Given the description of an element on the screen output the (x, y) to click on. 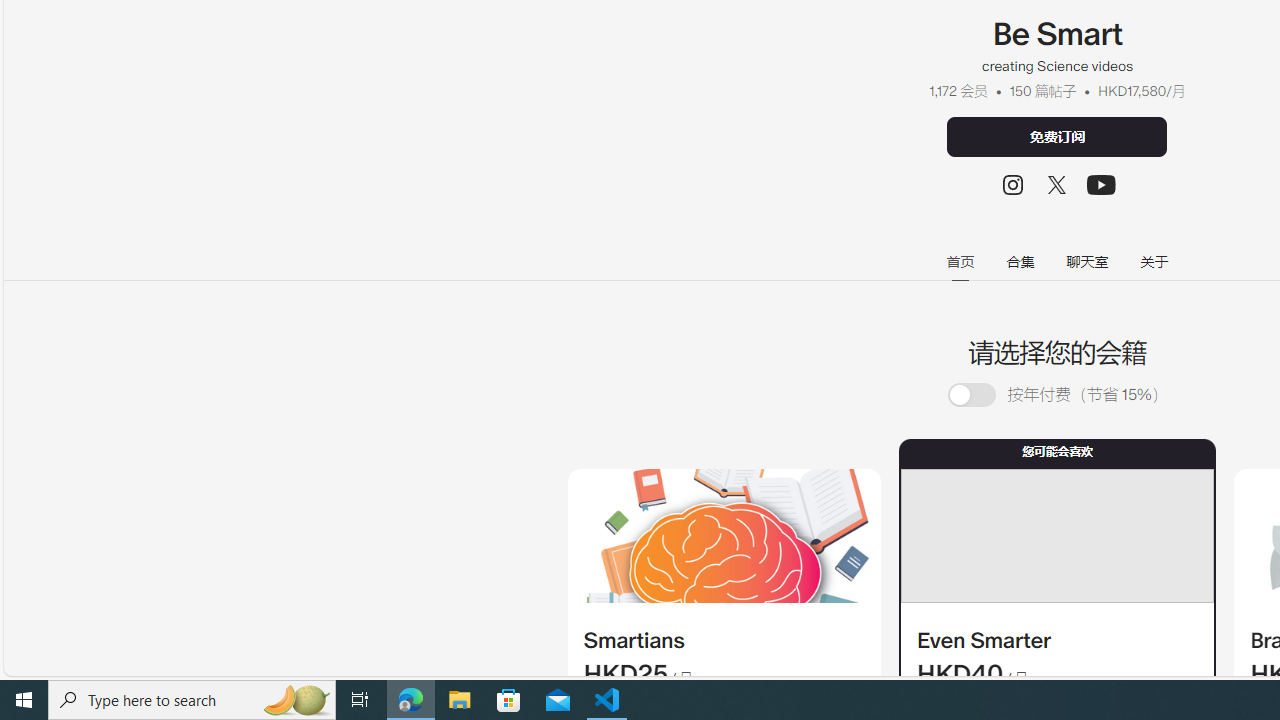
To get missing image descriptions, open the context menu. (723, 536)
